Given the description of an element on the screen output the (x, y) to click on. 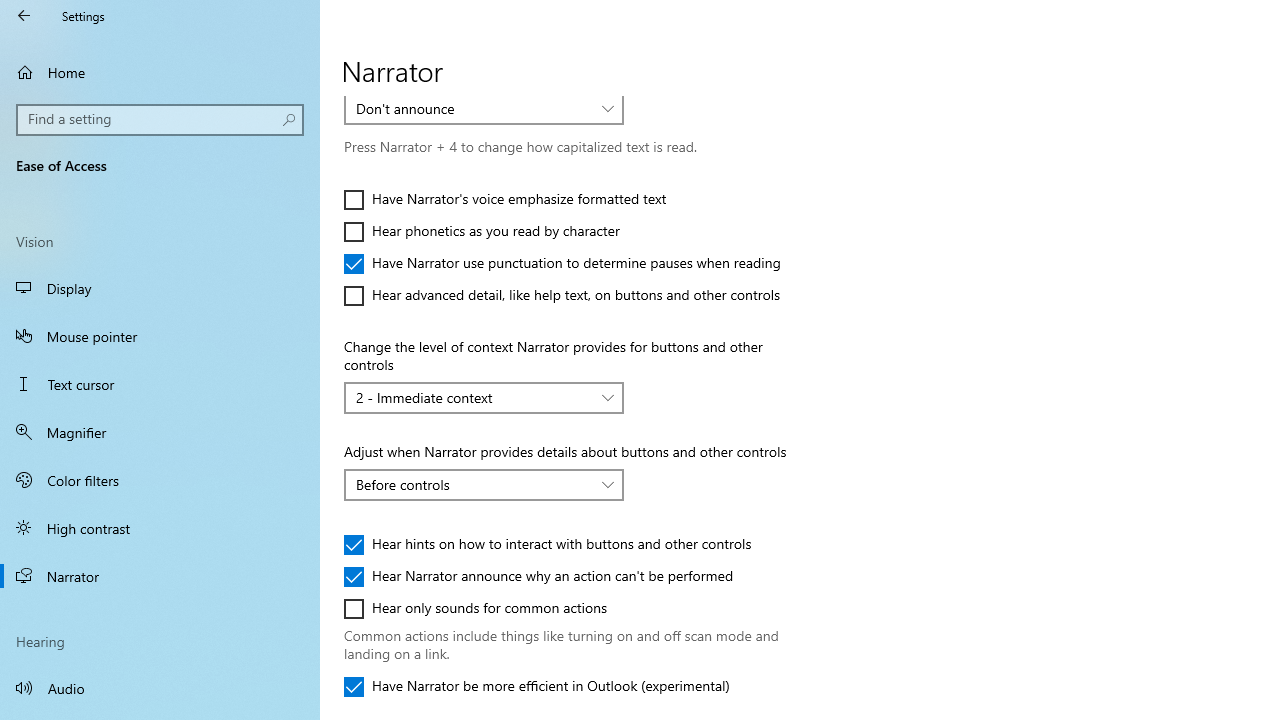
Narrator (160, 575)
Text cursor (160, 384)
Audio (160, 687)
Have Narrator's voice emphasize formatted text (505, 200)
Before controls (473, 484)
2 - Immediate context (473, 397)
Magnifier (160, 431)
High contrast (160, 527)
Color filters (160, 479)
